Given the description of an element on the screen output the (x, y) to click on. 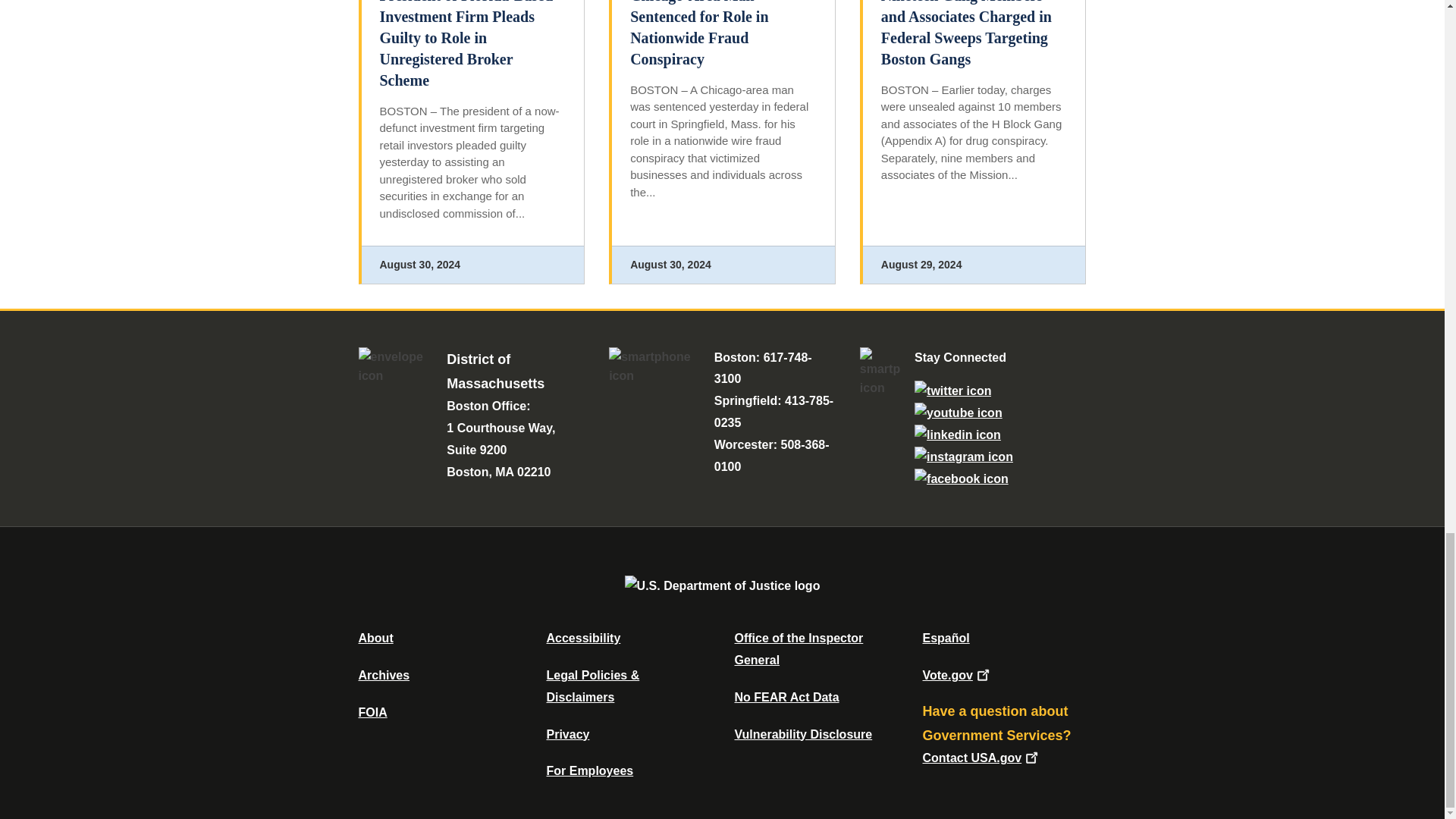
For Employees (589, 770)
Office of Information Policy (372, 712)
Data Posted Pursuant To The No Fear Act (785, 697)
Legal Policies and Disclaimers (592, 686)
About DOJ (375, 637)
Accessibility Statement (583, 637)
Department of Justice Archive (383, 675)
